Given the description of an element on the screen output the (x, y) to click on. 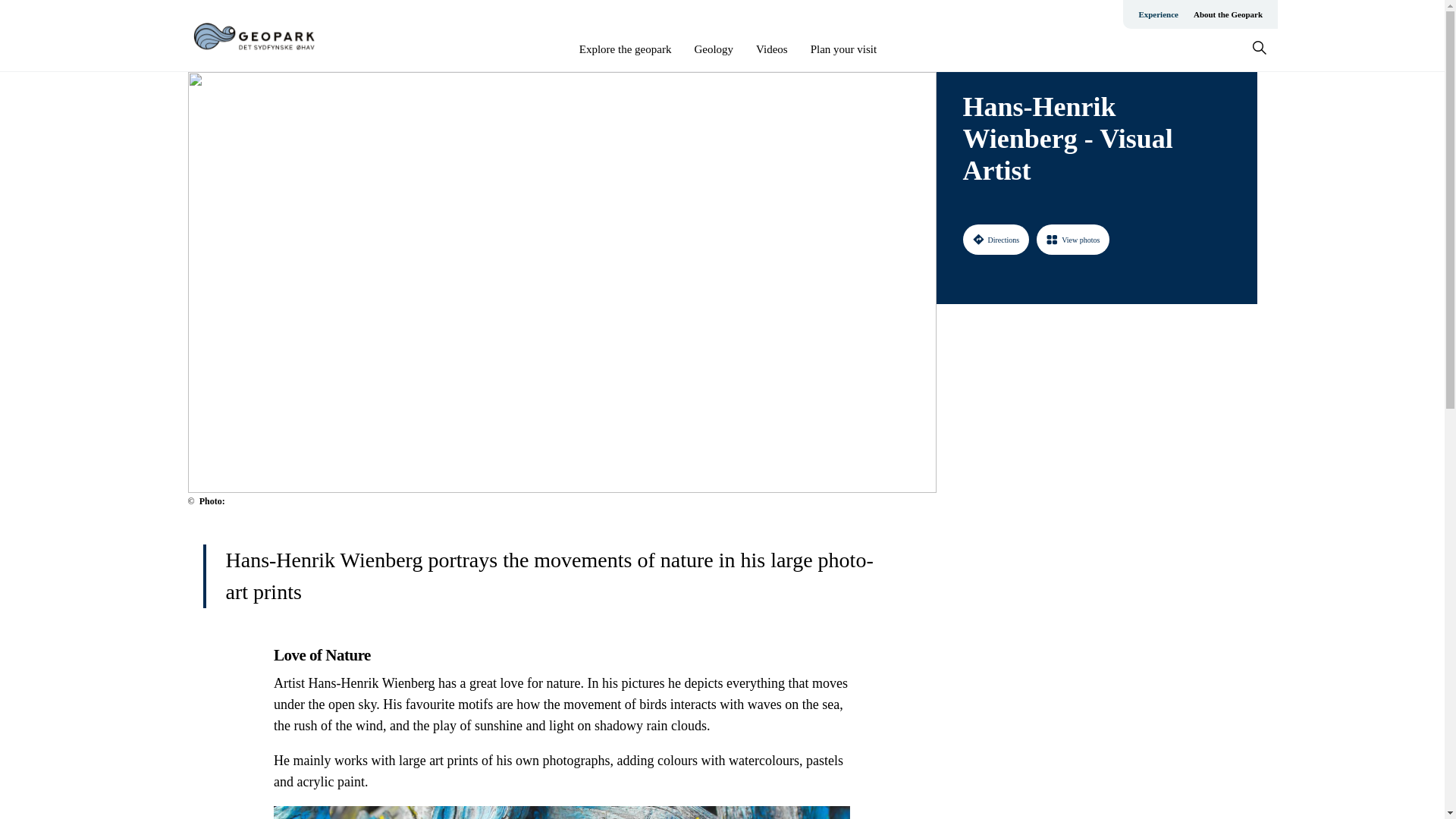
Go to homepage (253, 35)
Experience (1158, 14)
Videos (771, 49)
Plan your visit (843, 49)
Geology (713, 49)
View photos (1072, 239)
Directions (995, 239)
Explore the geopark (625, 49)
About the Geopark (1227, 14)
